Given the description of an element on the screen output the (x, y) to click on. 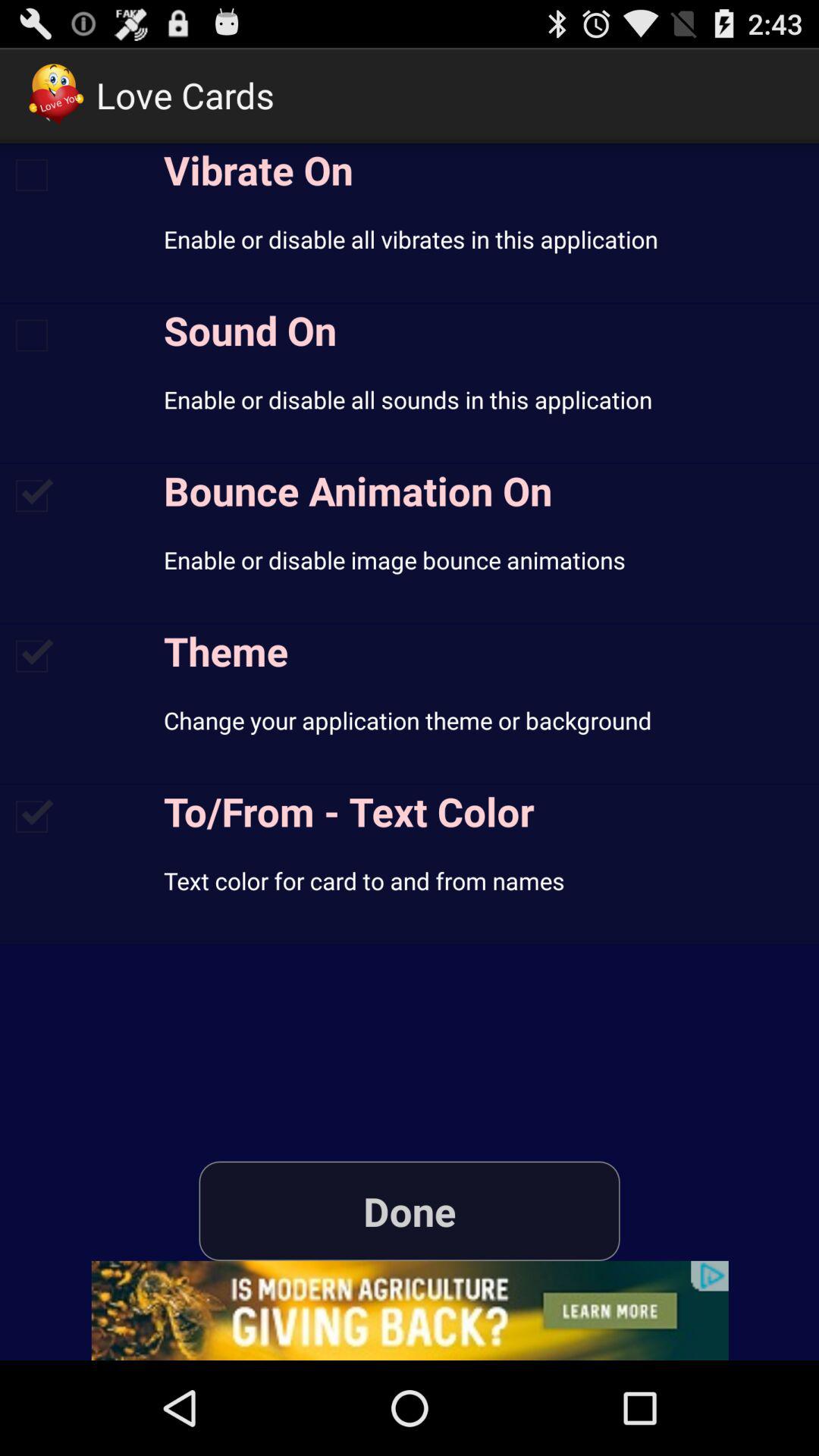
advertisement (409, 1310)
